Given the description of an element on the screen output the (x, y) to click on. 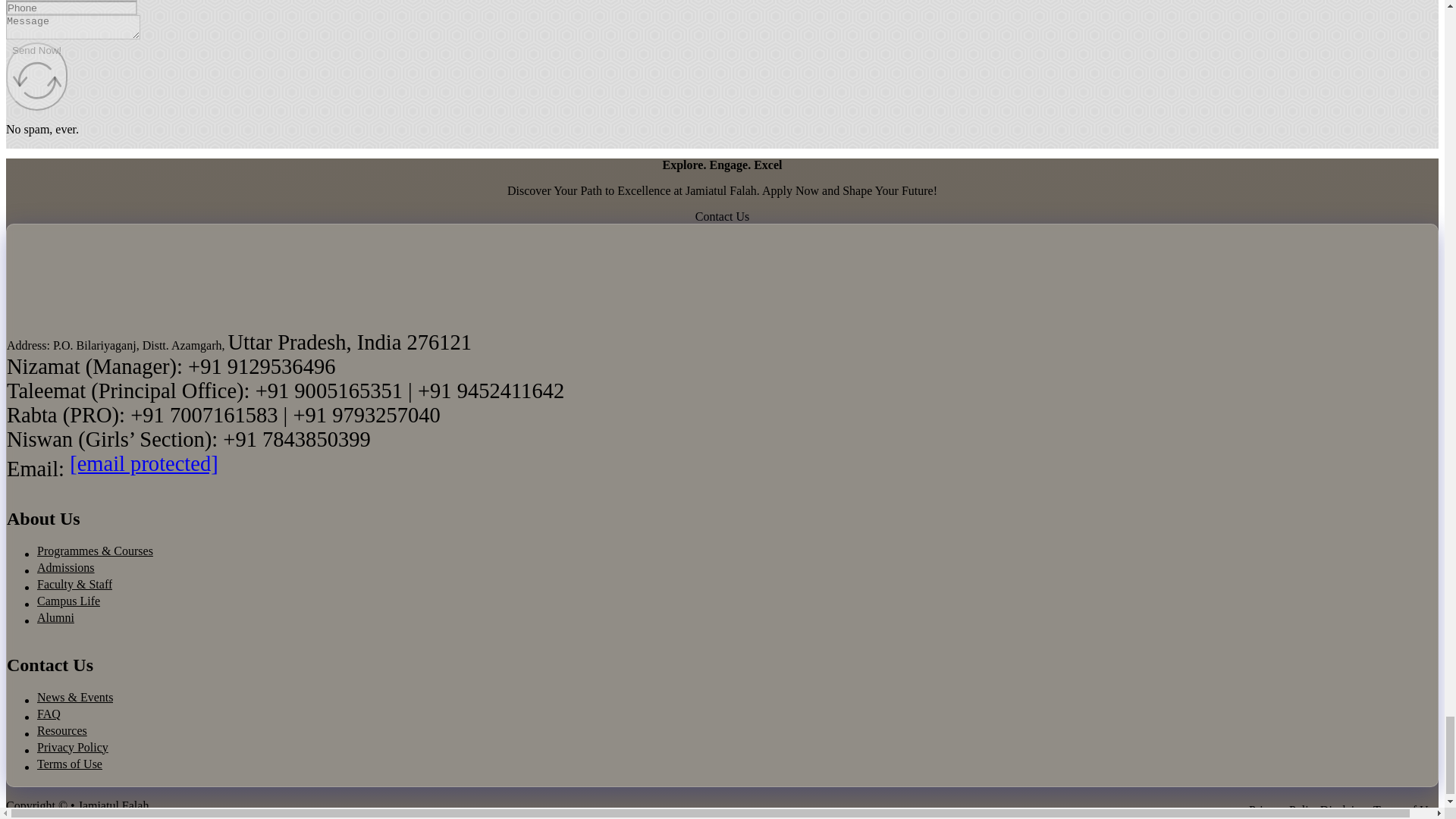
FAQ (49, 714)
Campus Life (68, 601)
Alumni (55, 617)
Resources (62, 730)
Admissions (65, 567)
Send Now! (35, 75)
